Given the description of an element on the screen output the (x, y) to click on. 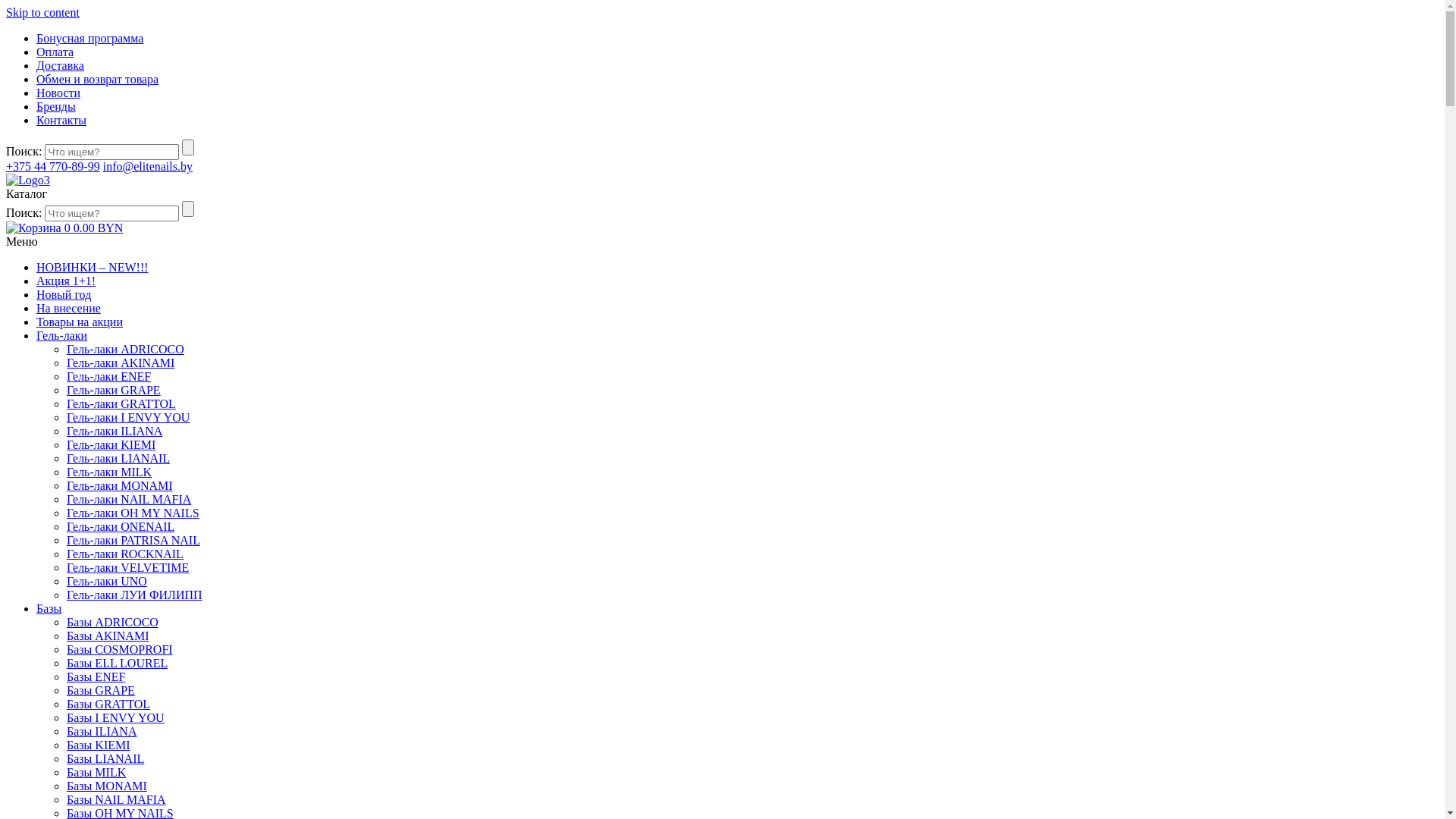
+375 44 770-89-99 Element type: text (53, 166)
info@elitenails.by Element type: text (147, 166)
Skip to content Element type: text (42, 12)
0 0.00 BYN Element type: text (64, 227)
